Given the description of an element on the screen output the (x, y) to click on. 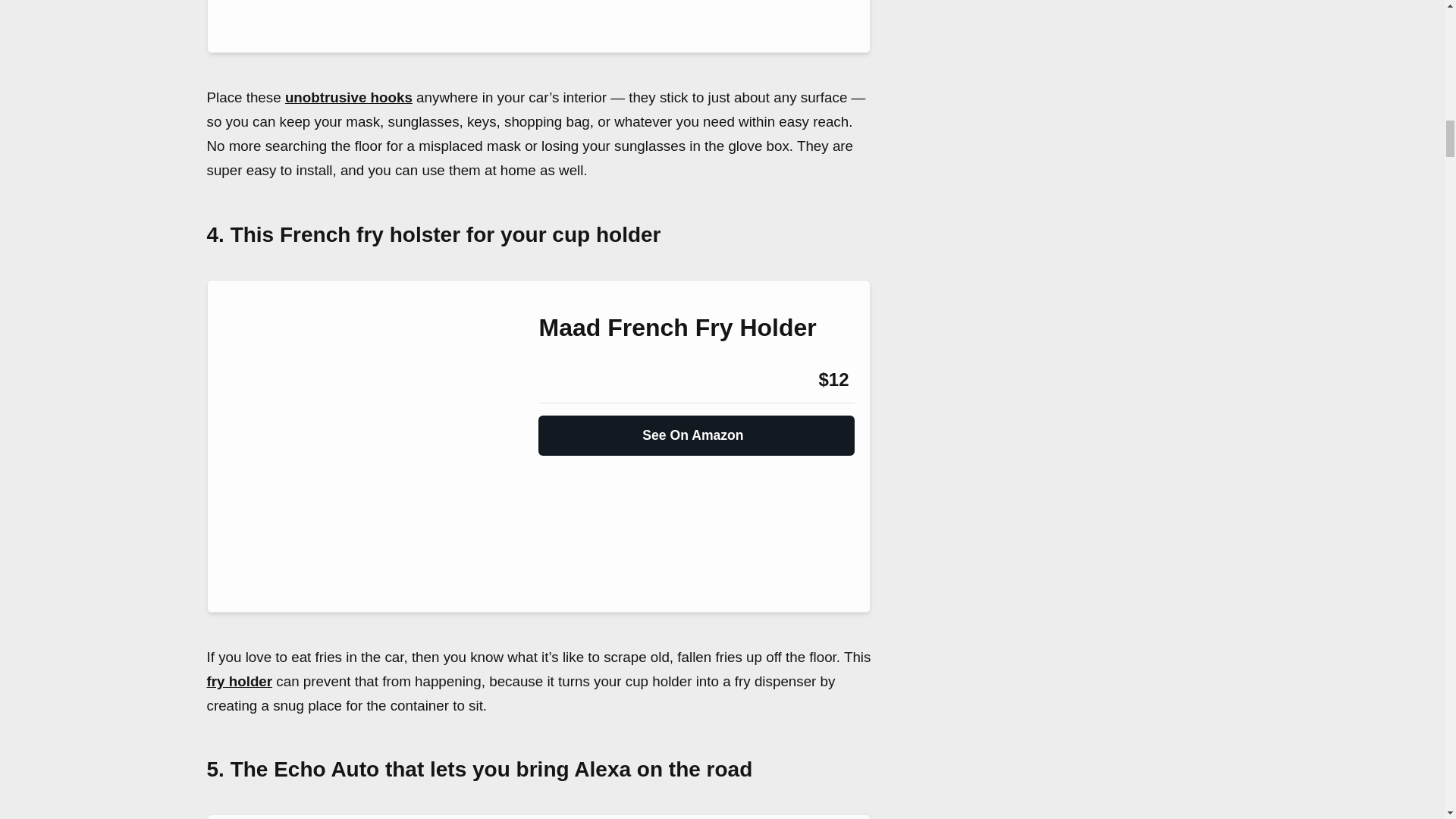
Amazon (579, 380)
unobtrusive hooks (348, 97)
See On Amazon (696, 428)
fry holder (239, 681)
